Given the description of an element on the screen output the (x, y) to click on. 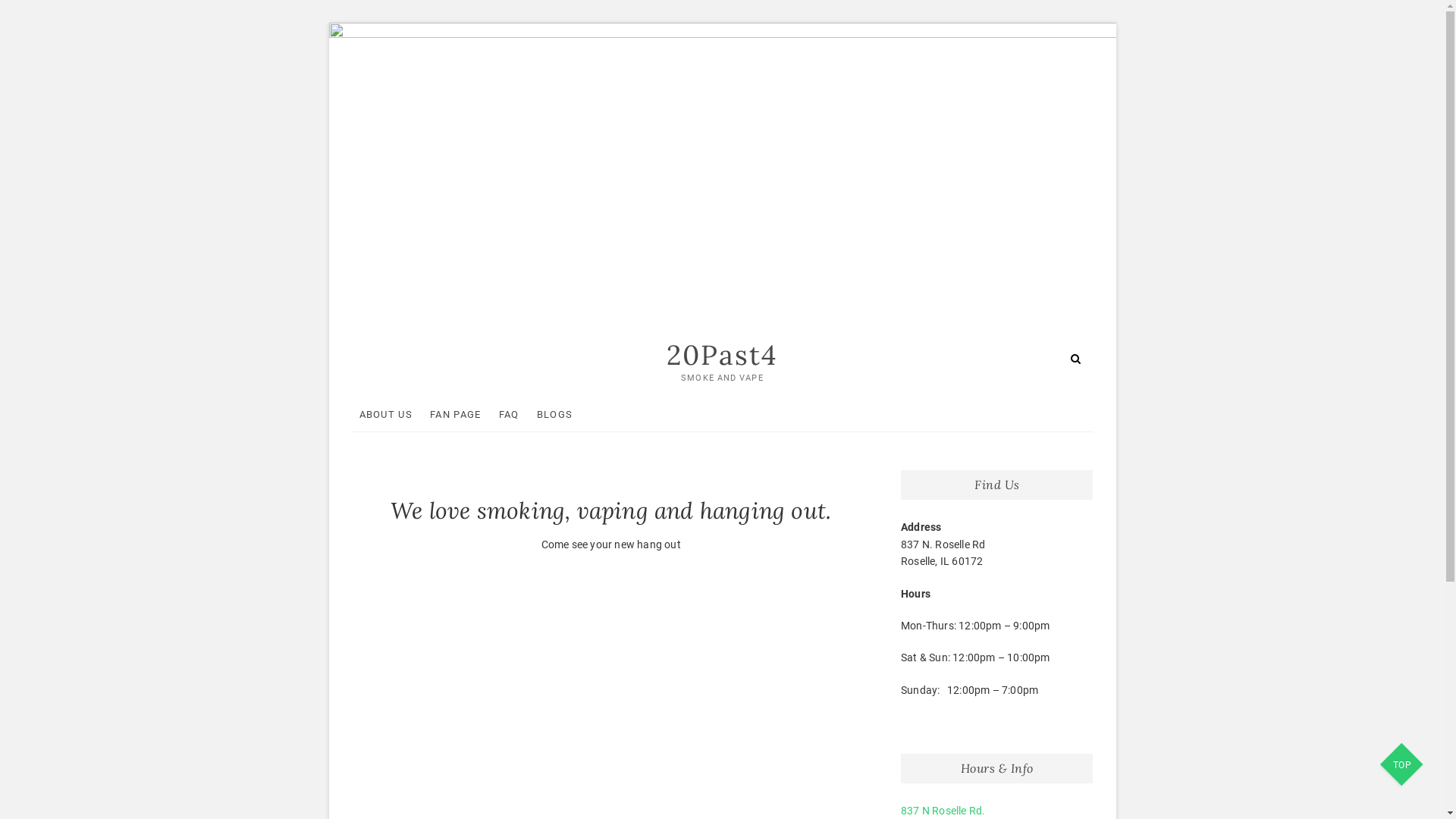
FAQ Element type: text (509, 414)
Skip to content Element type: text (329, 22)
FAN PAGE Element type: text (455, 414)
TOP Element type: text (1402, 765)
ABOUT US Element type: text (385, 414)
20Past4 Element type: text (722, 354)
BLOGS Element type: text (554, 414)
